Given the description of an element on the screen output the (x, y) to click on. 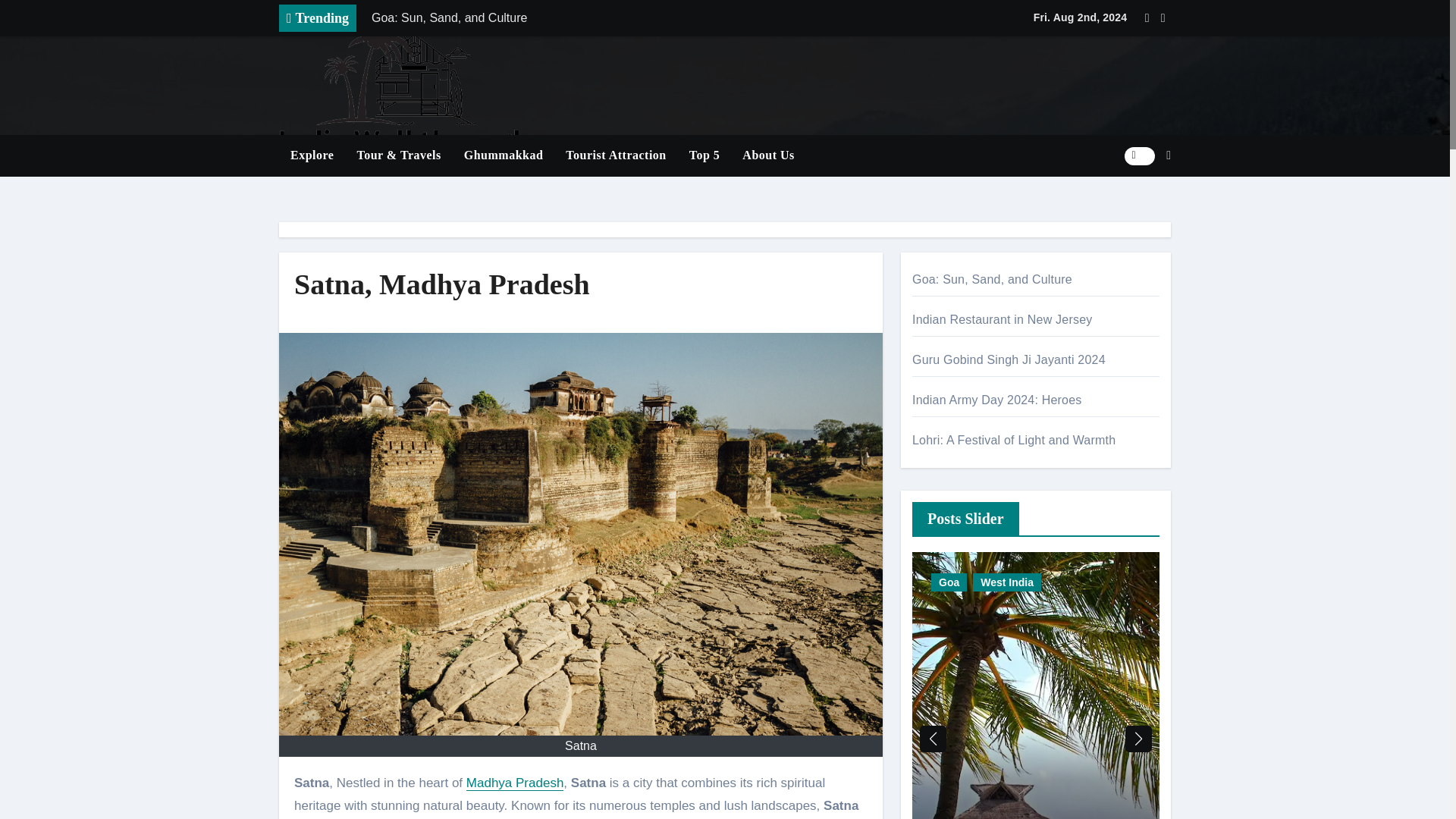
Explore (312, 155)
Goa: Sun, Sand, and Culture (574, 18)
Explore (312, 155)
